Given the description of an element on the screen output the (x, y) to click on. 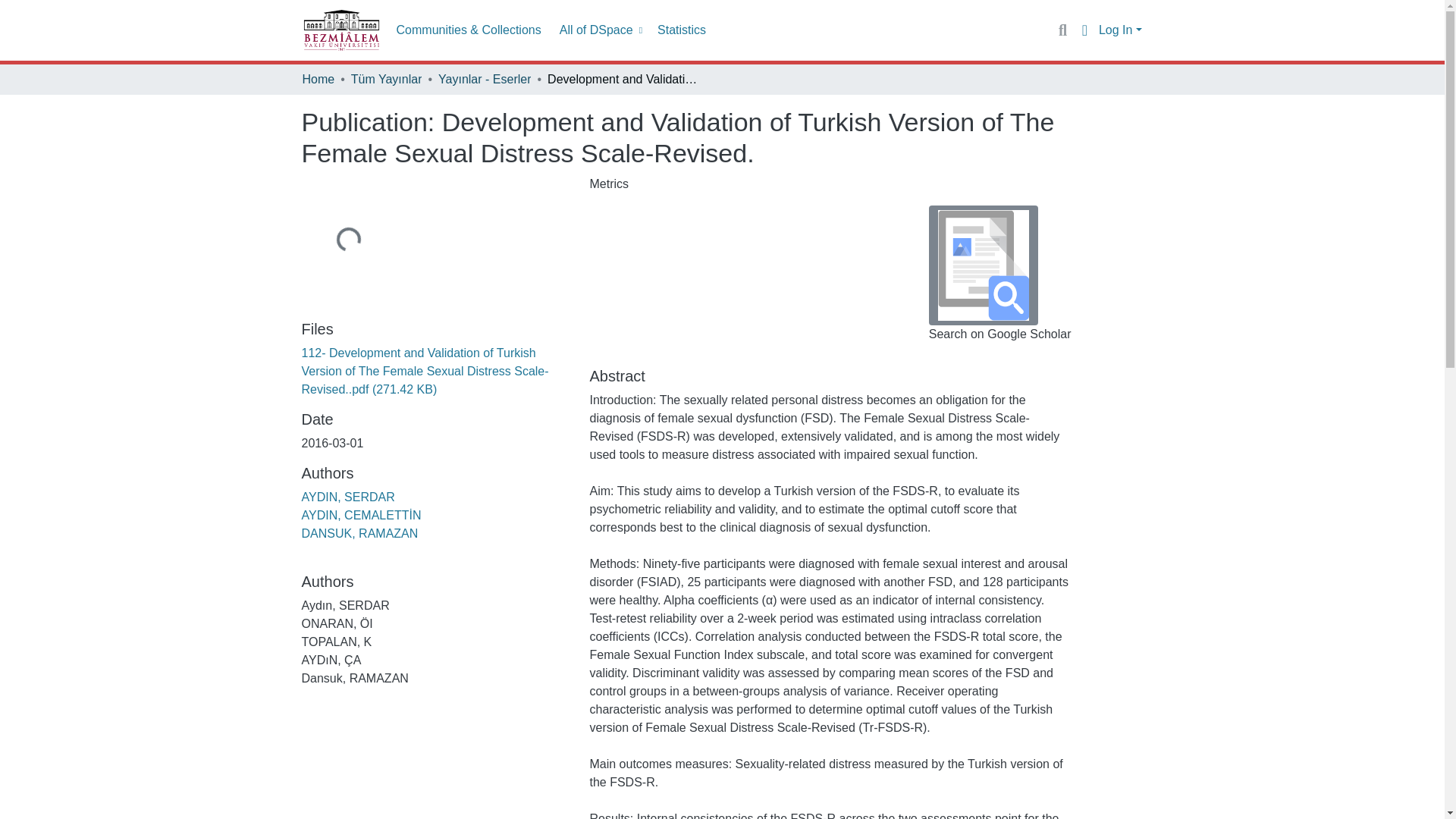
Log In (1119, 29)
All of DSpace (599, 30)
Home (317, 79)
AYDIN, SERDAR (347, 496)
Statistics (681, 30)
Language switch (1084, 30)
DANSUK, RAMAZAN (360, 533)
Search (1061, 30)
